Given the description of an element on the screen output the (x, y) to click on. 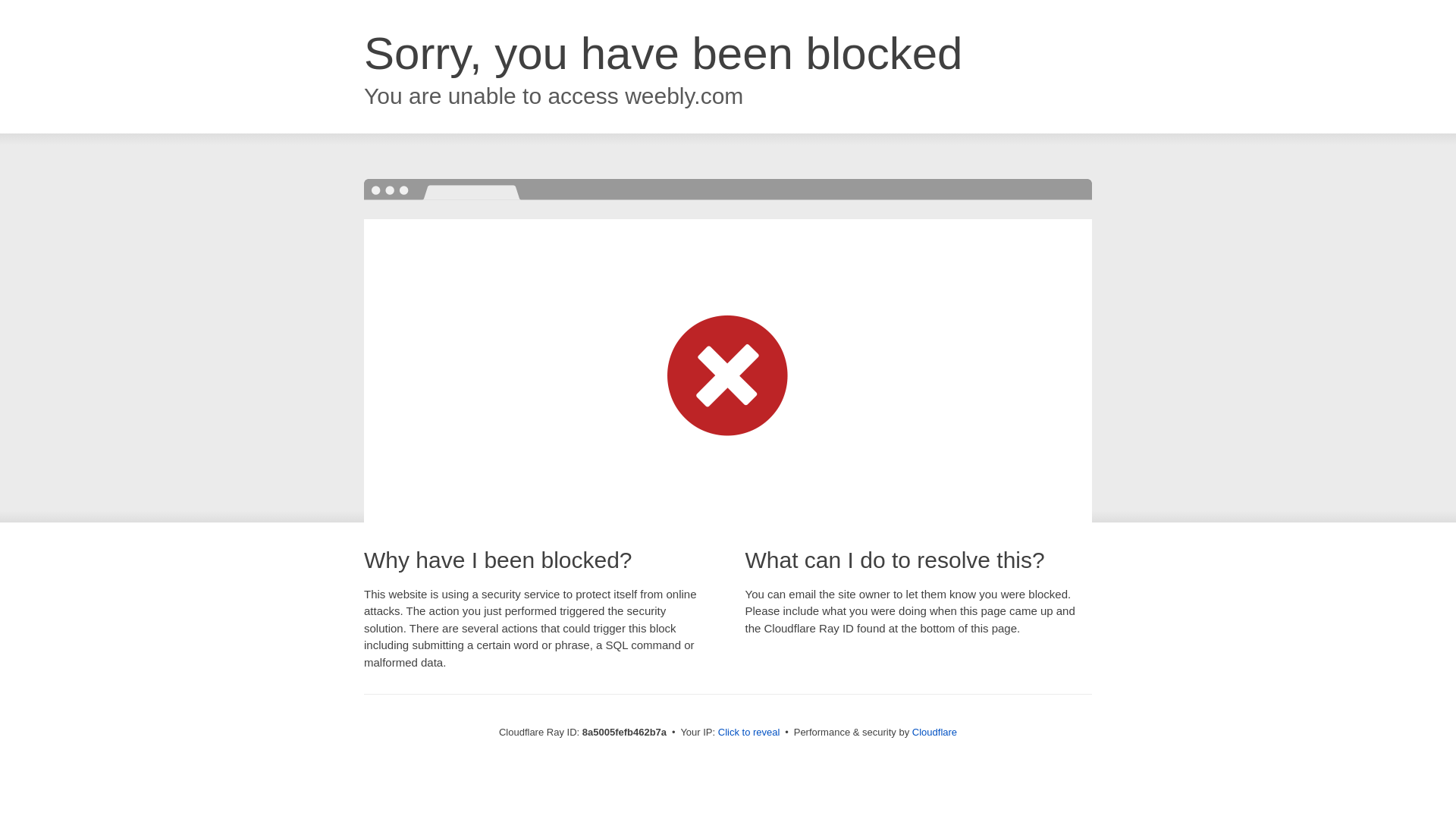
Cloudflare (934, 731)
Click to reveal (748, 732)
